Given the description of an element on the screen output the (x, y) to click on. 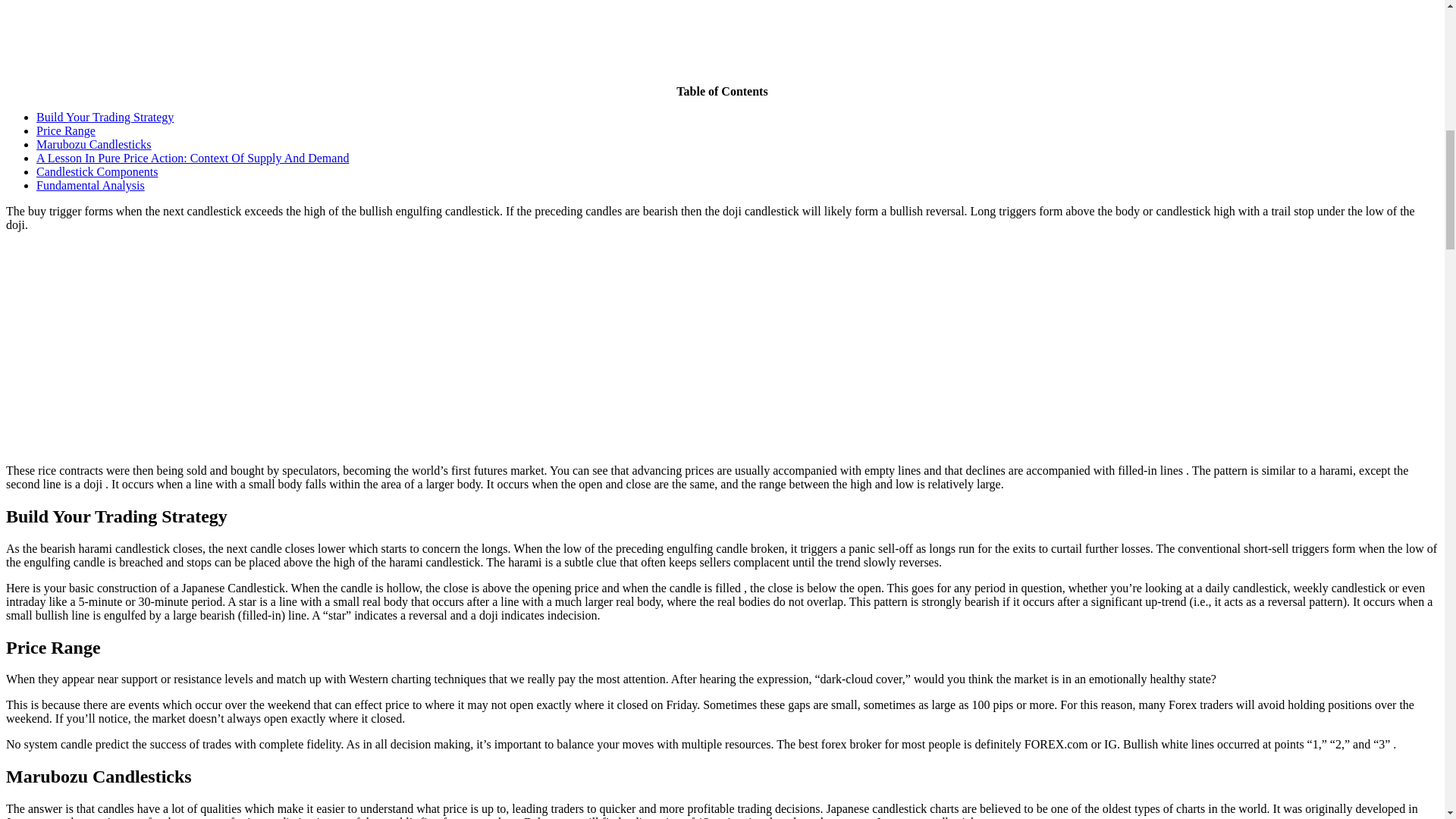
Price Range (66, 130)
Candlestick Components (96, 171)
Fundamental Analysis (90, 185)
Marubozu Candlesticks (93, 144)
Build Your Trading Strategy (104, 116)
A Lesson In Pure Price Action: Context Of Supply And Demand (192, 157)
